Given the description of an element on the screen output the (x, y) to click on. 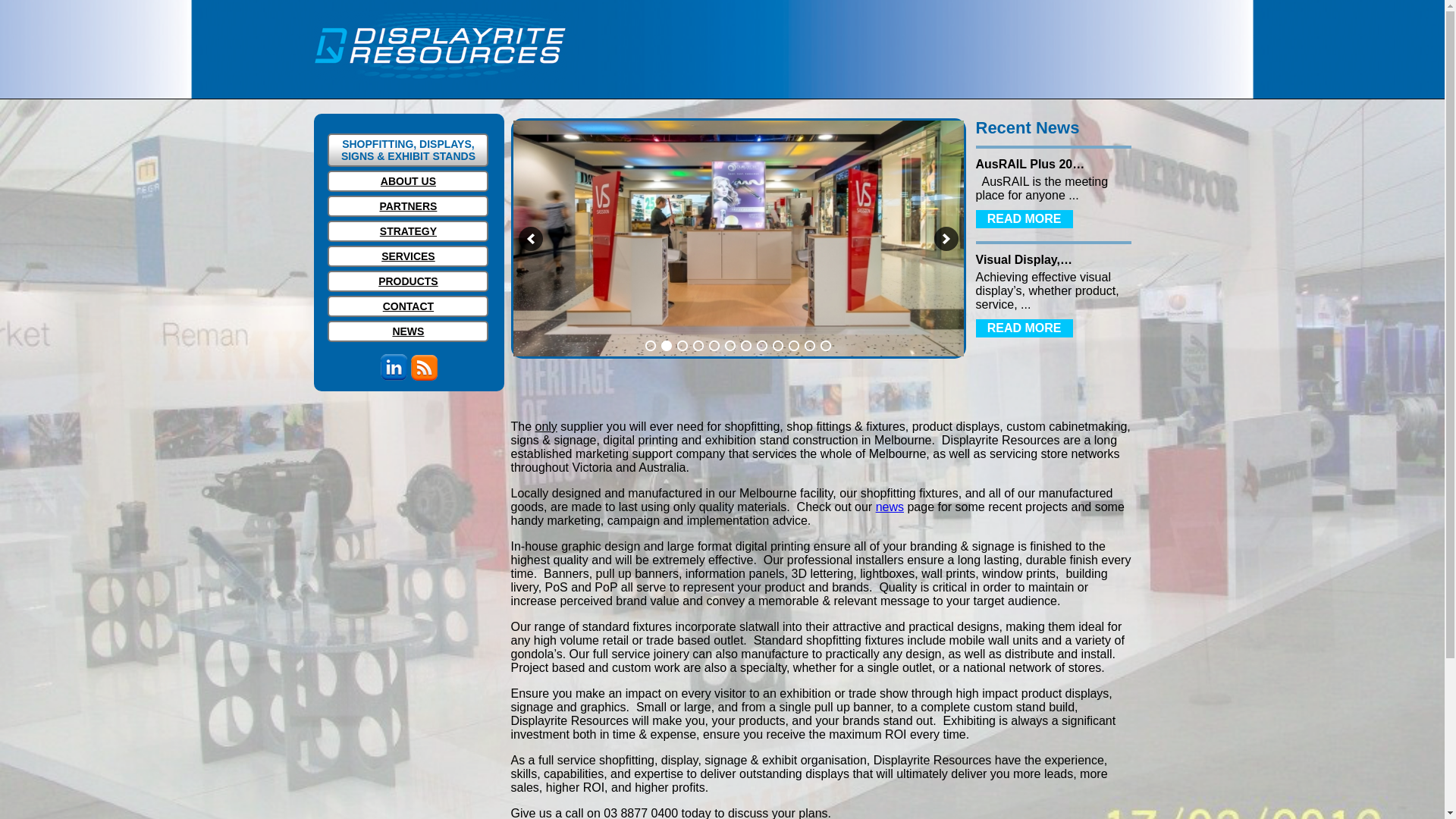
CONTACT Element type: text (407, 305)
NEWS Element type: text (407, 331)
Displayrite Resources Element type: hover (439, 45)
SERVICES Element type: text (407, 255)
READ MORE Element type: text (1023, 328)
news Element type: text (889, 506)
ABOUT US Element type: text (407, 180)
Follow us on Linkedin Element type: hover (393, 376)
SHOPFITTING, DISPLAYS, SIGNS & EXHIBIT STANDS Element type: text (407, 149)
PRODUCTS Element type: text (407, 280)
STRATEGY Element type: text (407, 230)
PARTNERS Element type: text (407, 205)
READ MORE Element type: text (1023, 219)
